Given the description of an element on the screen output the (x, y) to click on. 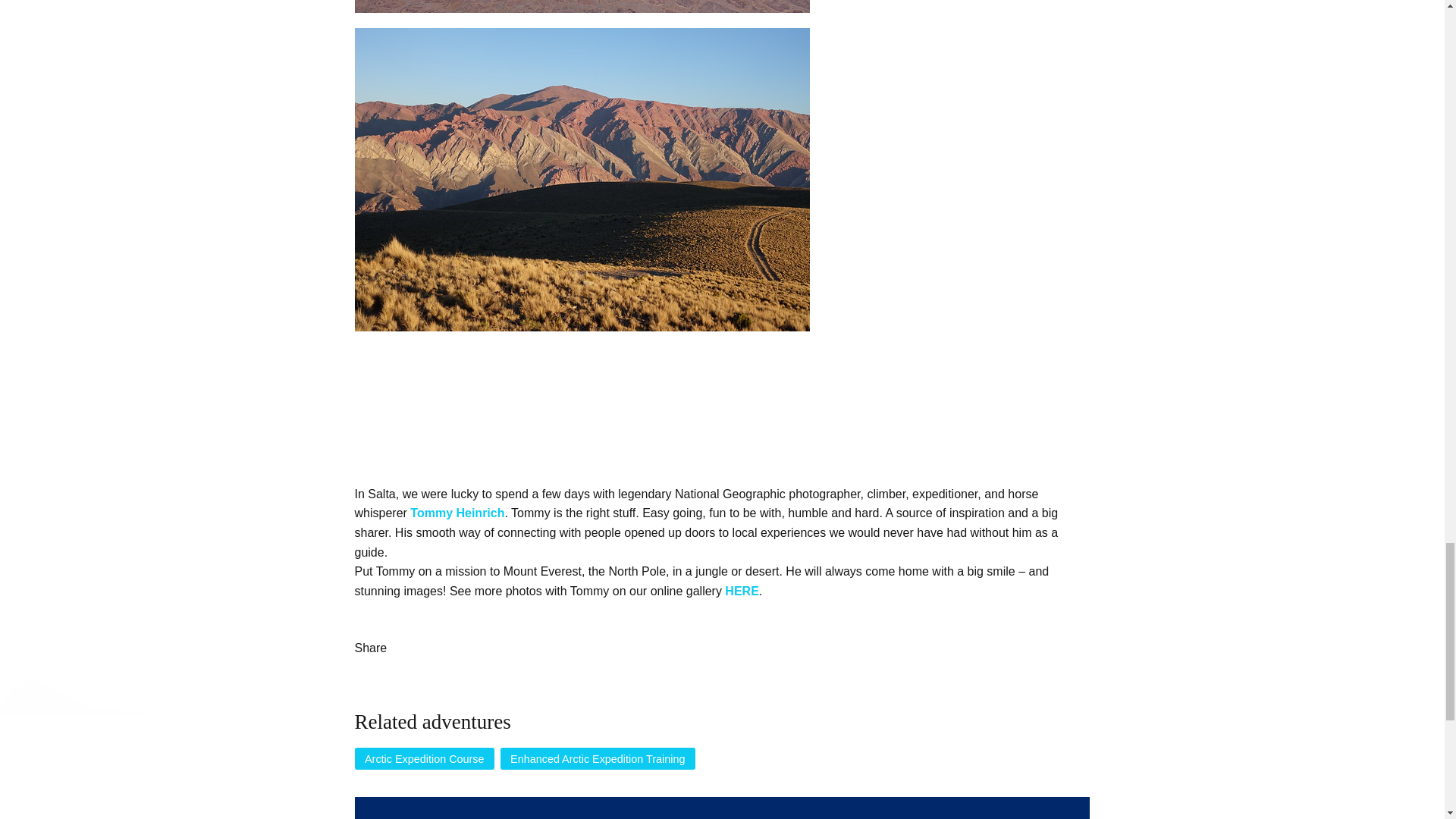
HERE (741, 590)
Enhanced Arctic Expedition Training (597, 758)
Arctic Expedition Course (425, 758)
Tommy Heinrich (456, 512)
